Given the description of an element on the screen output the (x, y) to click on. 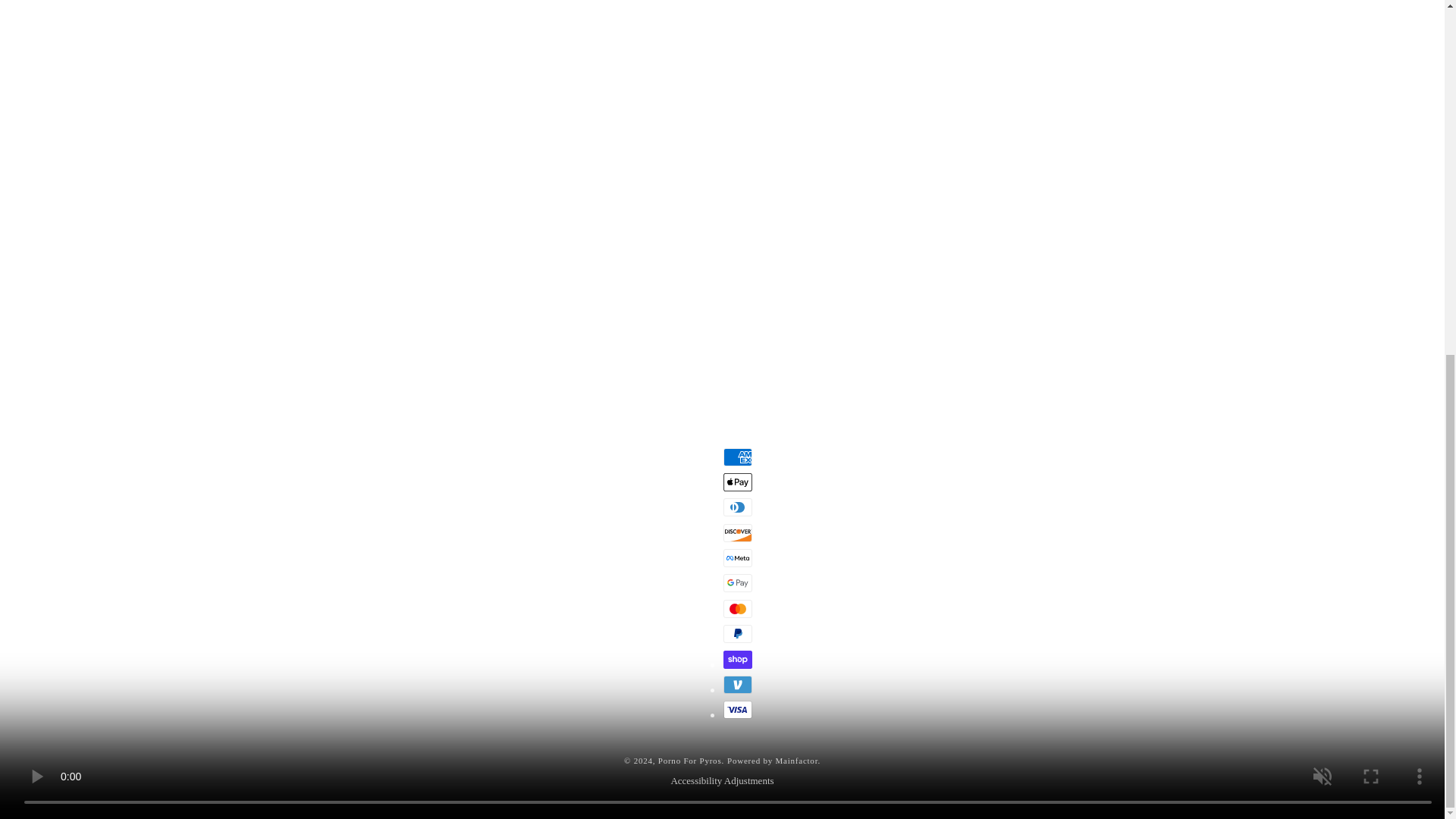
Venmo (737, 684)
Apple Pay (737, 482)
APPI Compliance (857, 213)
Discover (737, 533)
CCPA Compliance (725, 213)
GDPR Compliance (590, 213)
Diners Club (737, 506)
Google Pay (737, 583)
PayPal (737, 633)
Visa (737, 710)
